Given the description of an element on the screen output the (x, y) to click on. 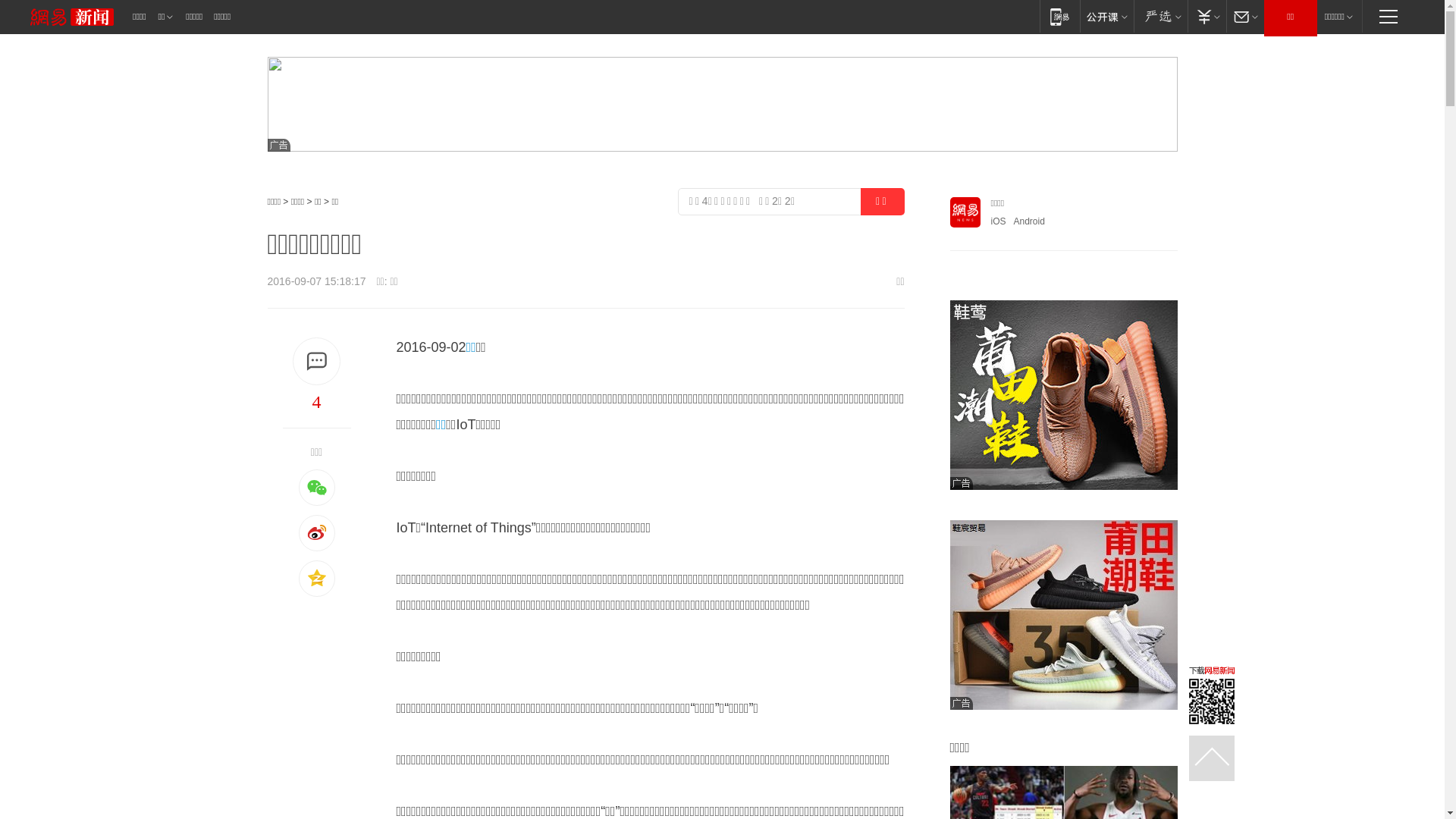
4 Element type: text (315, 401)
